Given the description of an element on the screen output the (x, y) to click on. 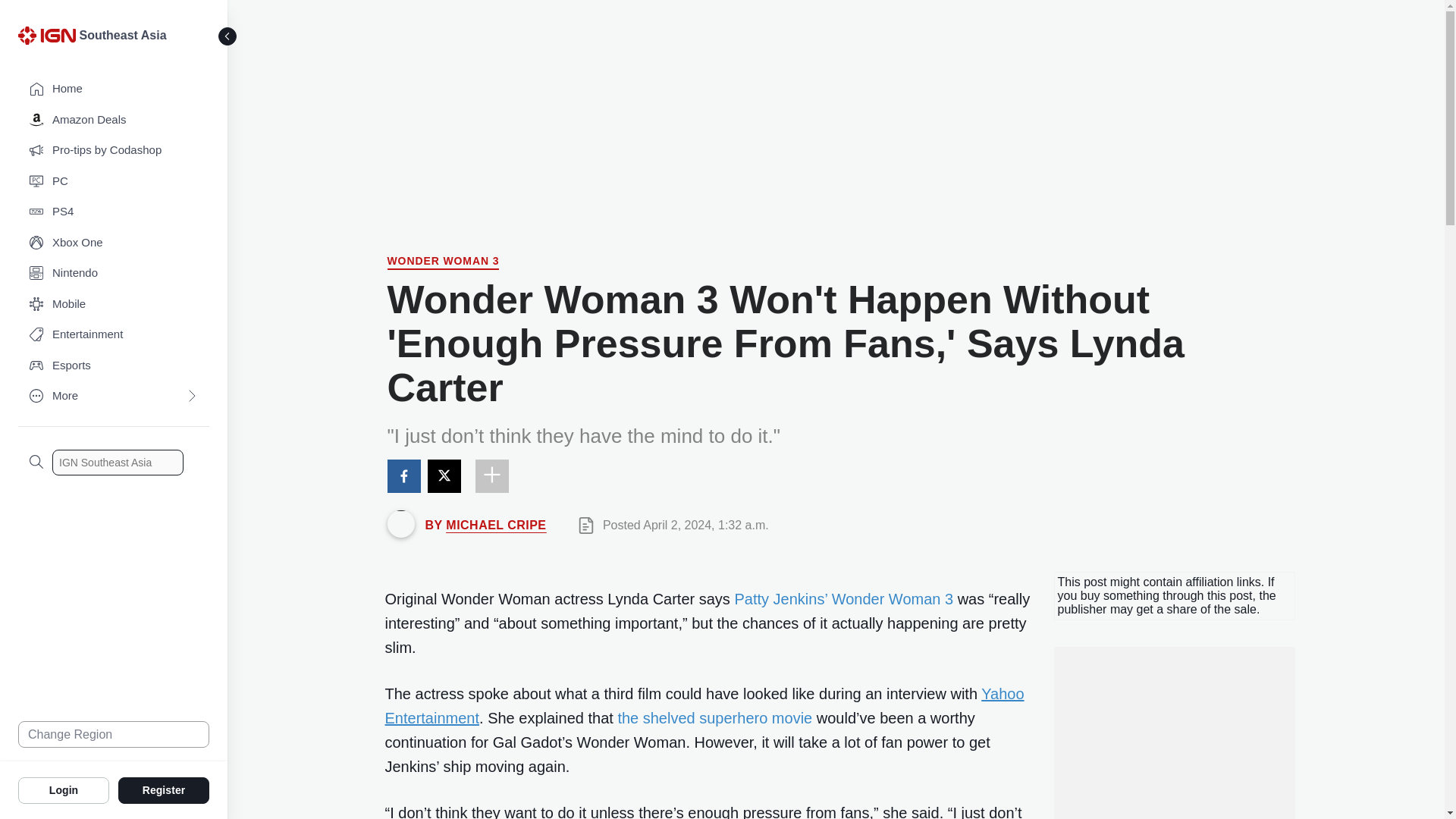
Entertainment (113, 334)
IGN Logo (48, 39)
MICHAEL CRIPE (495, 524)
WONDER WOMAN 3 (443, 262)
Register (163, 789)
Home (113, 89)
More (113, 396)
PC (113, 181)
Login (63, 789)
Esports (113, 365)
